Given the description of an element on the screen output the (x, y) to click on. 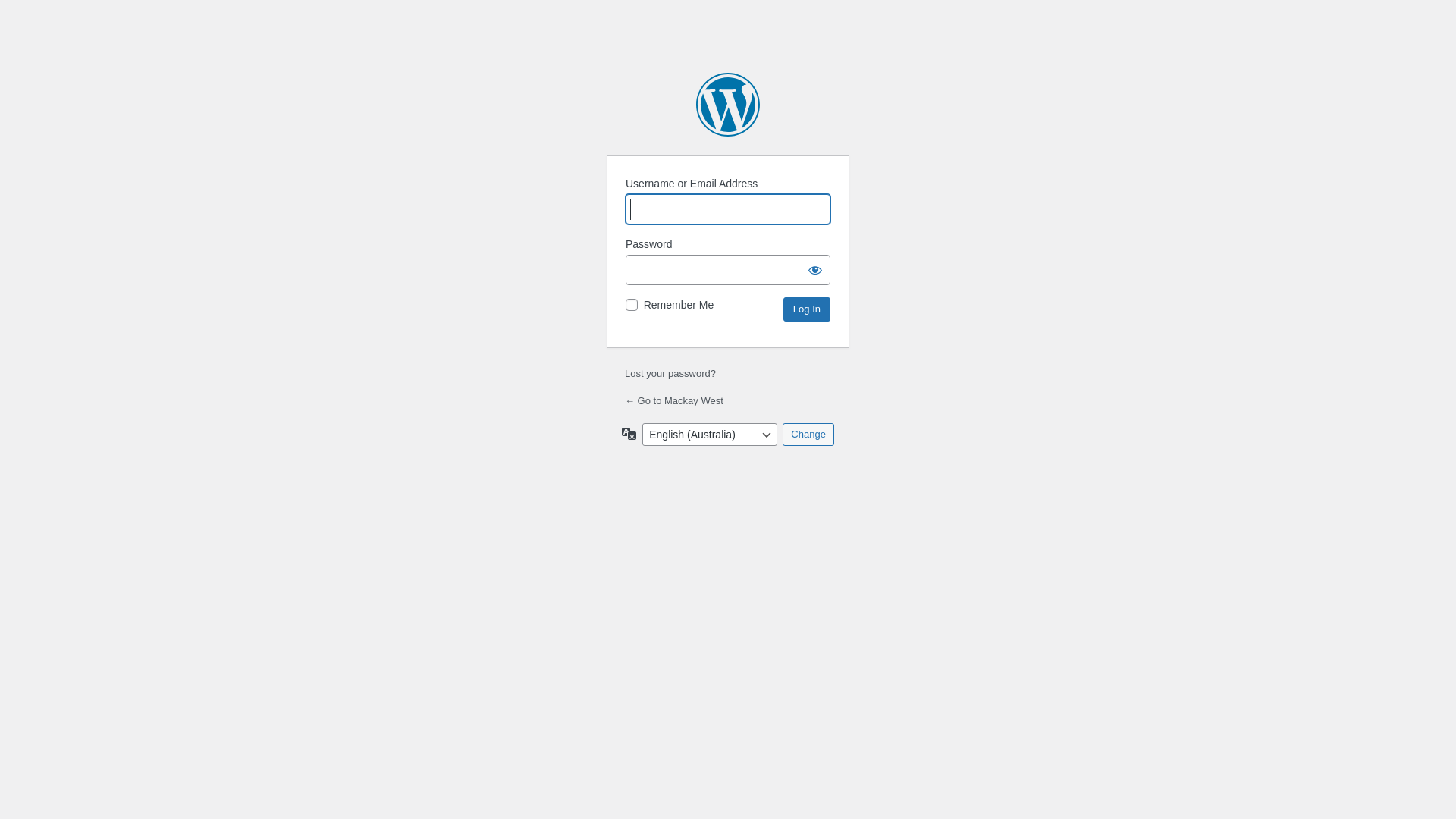
Log In Element type: text (806, 309)
Lost your password? Element type: text (669, 373)
Powered by WordPress Element type: text (727, 104)
Change Element type: text (808, 434)
